Given the description of an element on the screen output the (x, y) to click on. 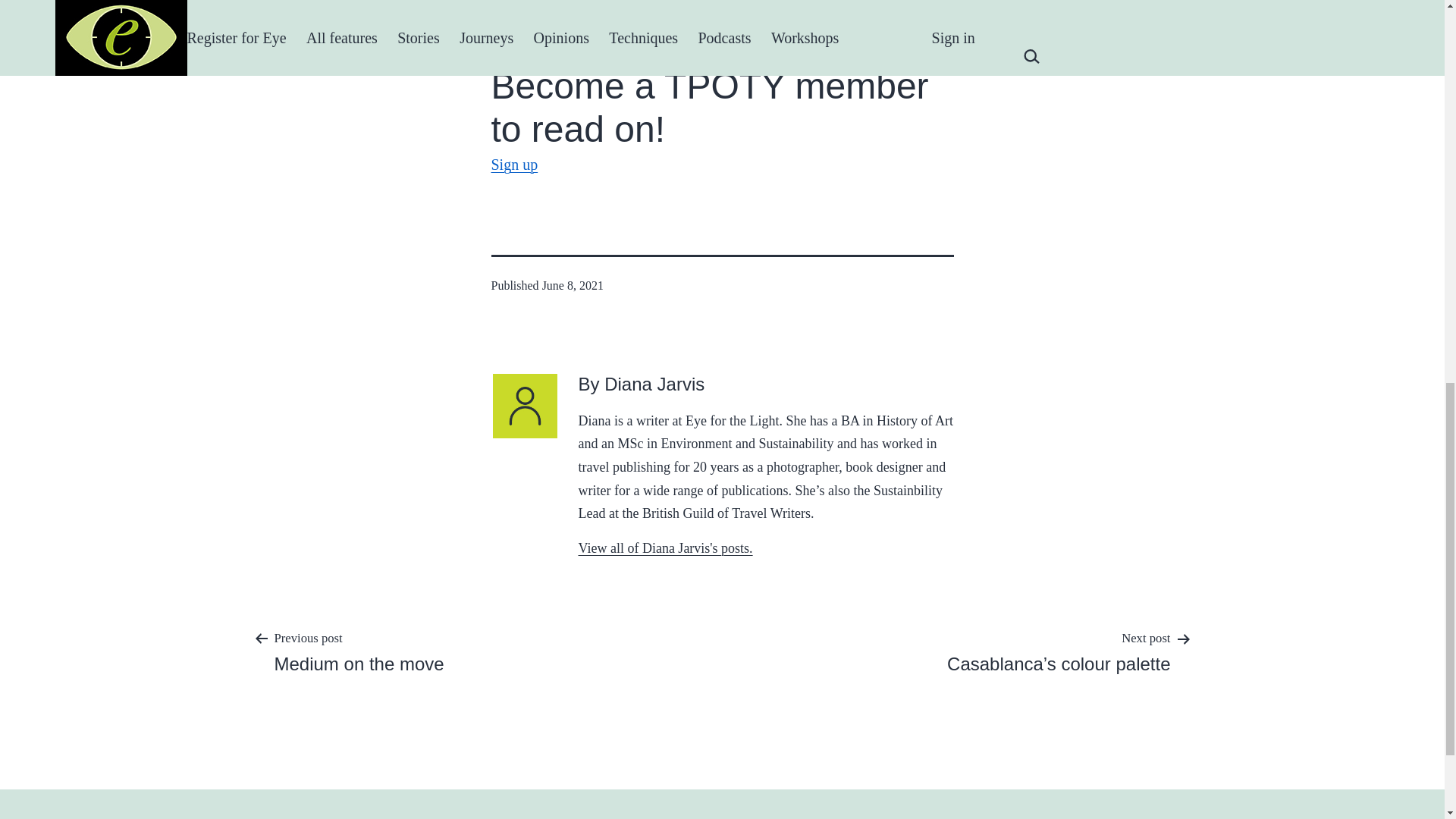
Sign up (515, 164)
